Given the description of an element on the screen output the (x, y) to click on. 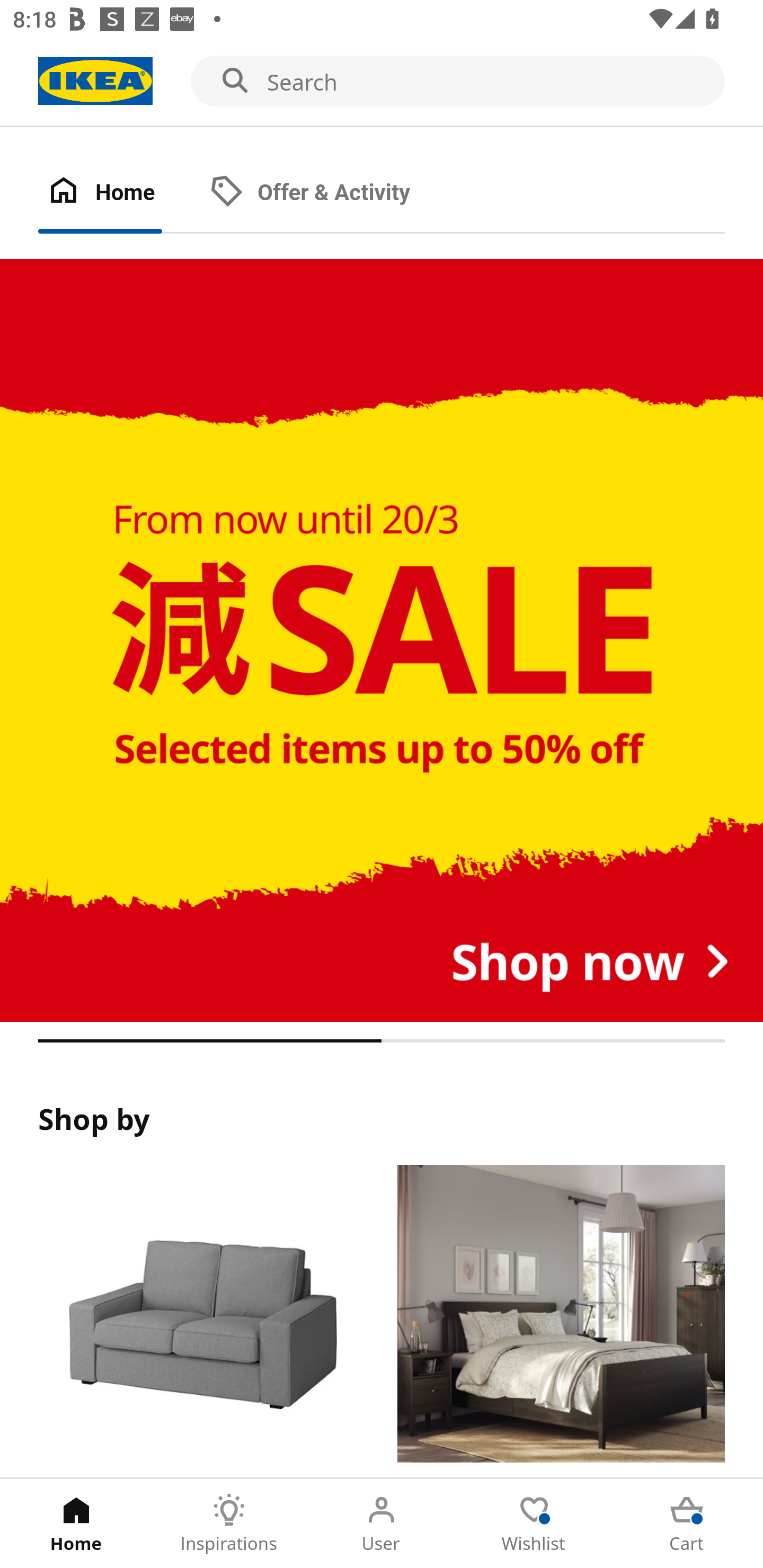
Search (381, 81)
Home
Tab 1 of 2 (118, 192)
Offer & Activity
Tab 2 of 2 (327, 192)
Products (201, 1321)
Rooms (560, 1321)
Home
Tab 1 of 5 (76, 1522)
Inspirations
Tab 2 of 5 (228, 1522)
User
Tab 3 of 5 (381, 1522)
Wishlist
Tab 4 of 5 (533, 1522)
Cart
Tab 5 of 5 (686, 1522)
